Given the description of an element on the screen output the (x, y) to click on. 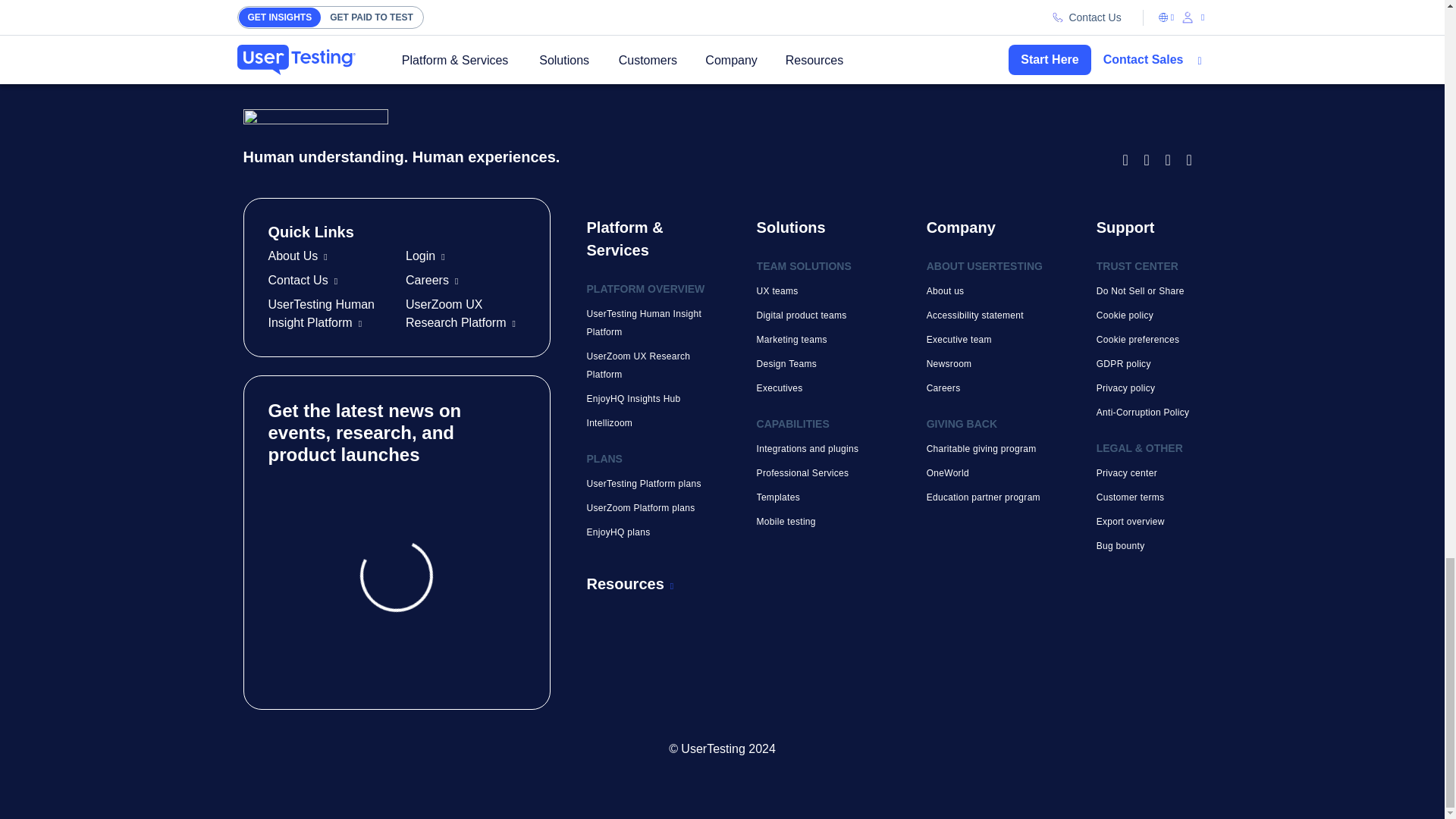
Home (679, 137)
